Given the description of an element on the screen output the (x, y) to click on. 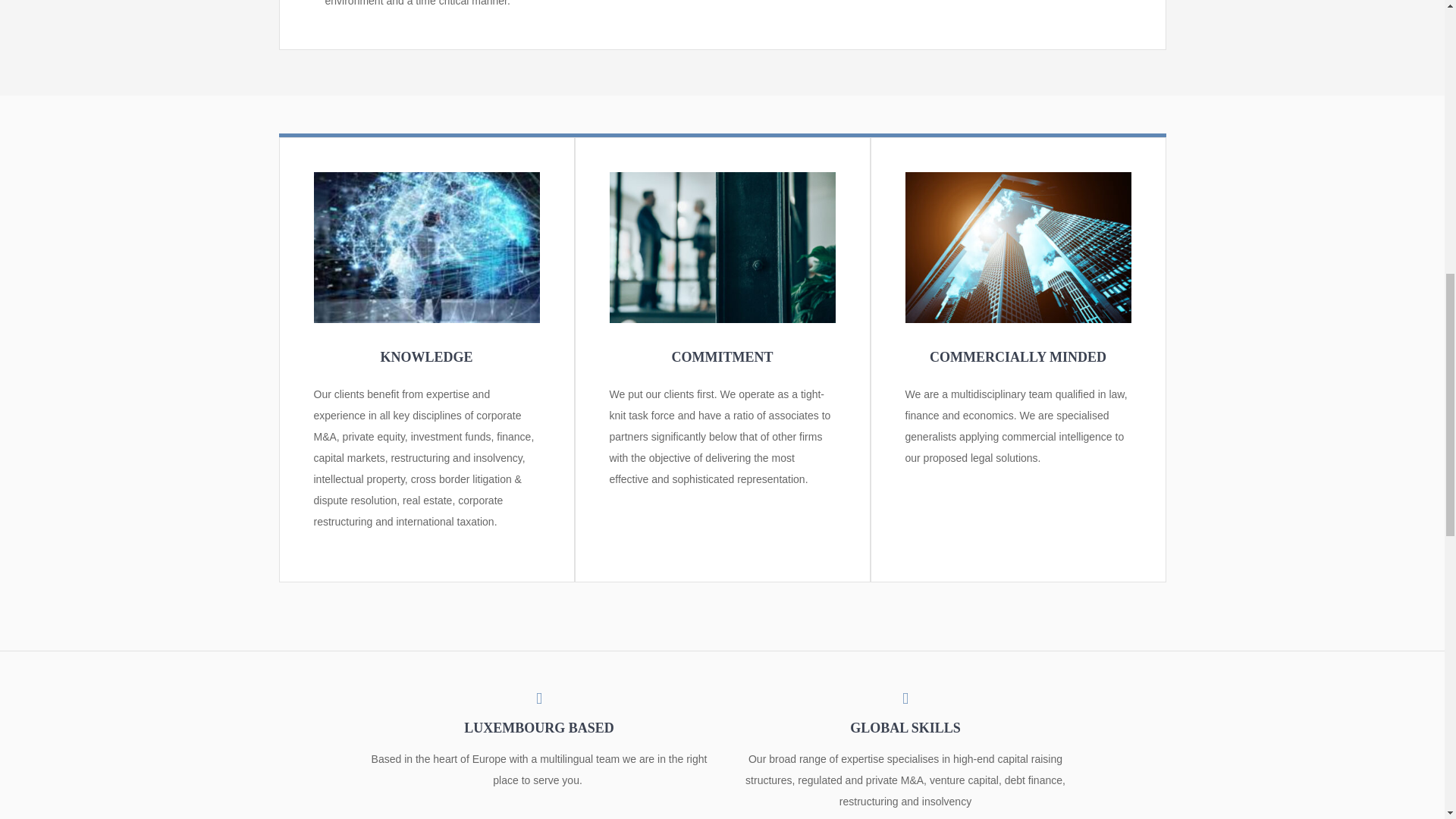
commitment (722, 177)
LUXEMBOURG BASED (538, 713)
GLOBAL SKILLS (905, 713)
Knowledgev4 (427, 177)
